Given the description of an element on the screen output the (x, y) to click on. 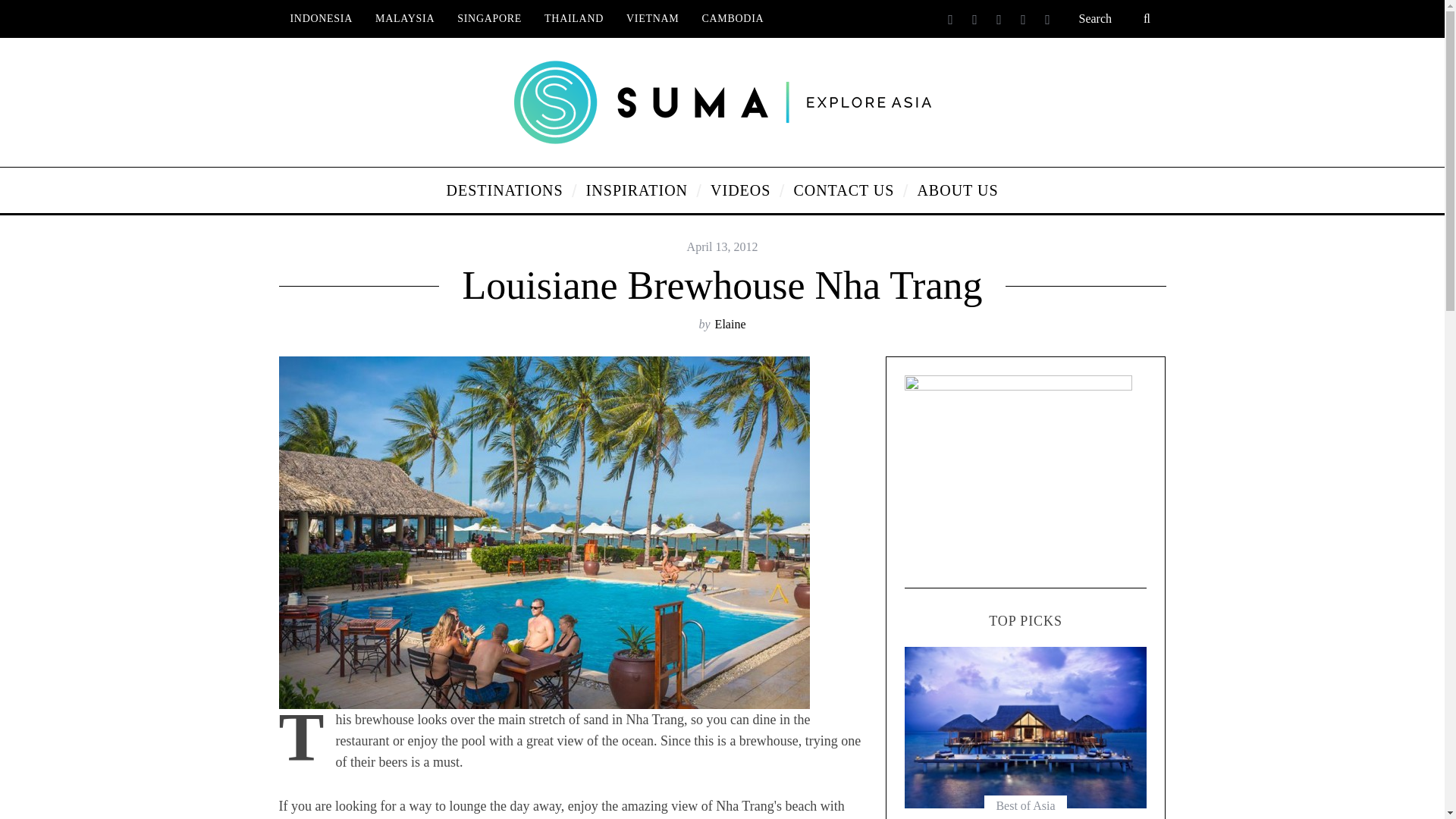
MALAYSIA (404, 18)
VIETNAM (652, 18)
SINGAPORE (488, 18)
CAMBODIA (732, 18)
INDONESIA (322, 18)
THAILAND (573, 18)
Search (1116, 18)
